Given the description of an element on the screen output the (x, y) to click on. 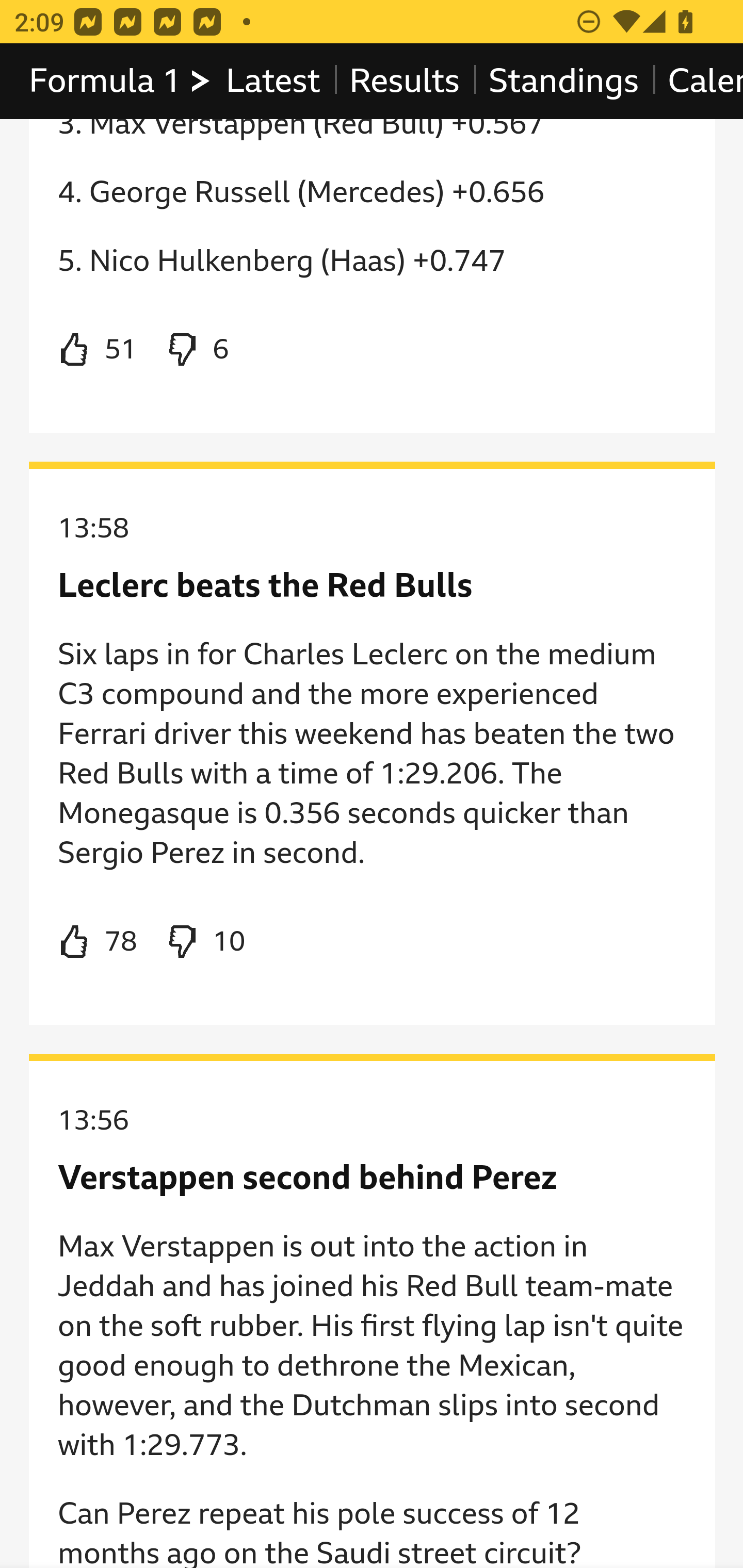
Like (97, 350)
Dislike (196, 350)
Like (97, 941)
Dislike (204, 941)
